Given the description of an element on the screen output the (x, y) to click on. 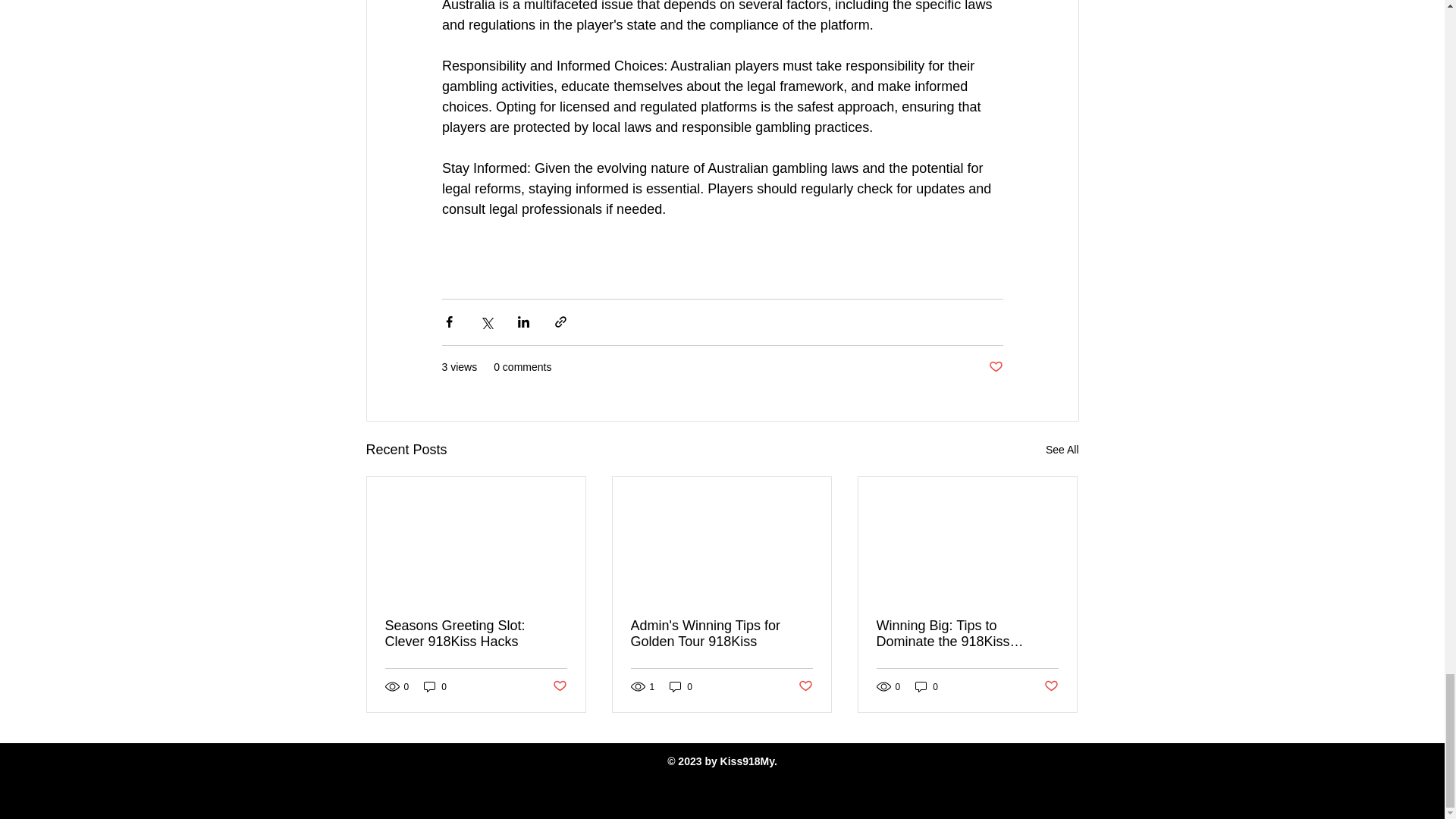
See All (1061, 449)
Post not marked as liked (1050, 686)
Post not marked as liked (995, 367)
0 (435, 686)
0 (681, 686)
Admin's Winning Tips for Golden Tour 918Kiss (721, 634)
Winning Big: Tips to Dominate the 918Kiss Monkey Story Slot (967, 634)
0 (926, 686)
Seasons Greeting Slot: Clever 918Kiss Hacks (476, 634)
Post not marked as liked (558, 686)
Post not marked as liked (804, 686)
